Given the description of an element on the screen output the (x, y) to click on. 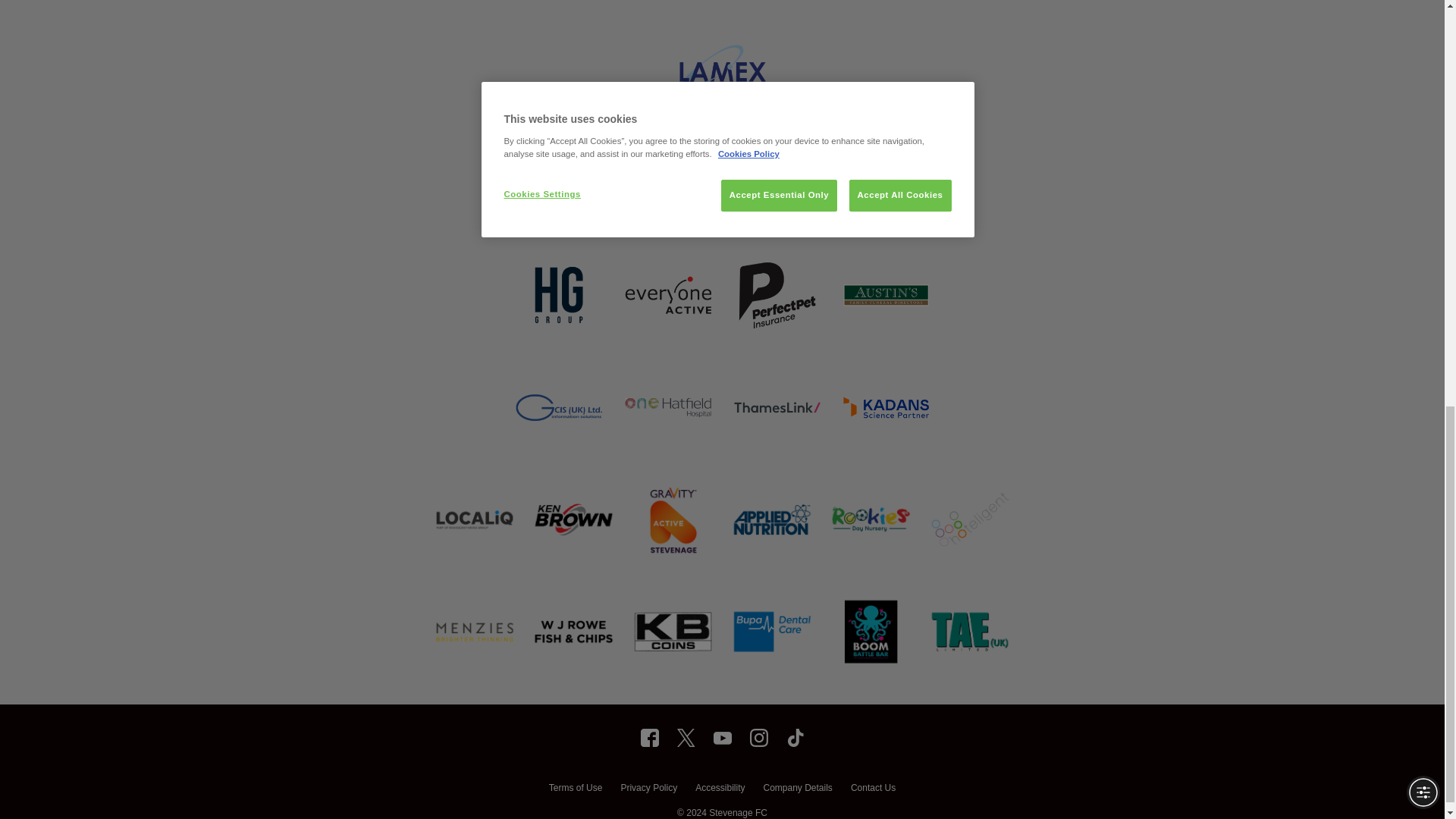
Company Details (796, 789)
StevenageFCOfficial (649, 737)
Contact Us (872, 789)
Terms of Use (575, 789)
Accessibility (719, 789)
Privacy Policy (648, 789)
